Given the description of an element on the screen output the (x, y) to click on. 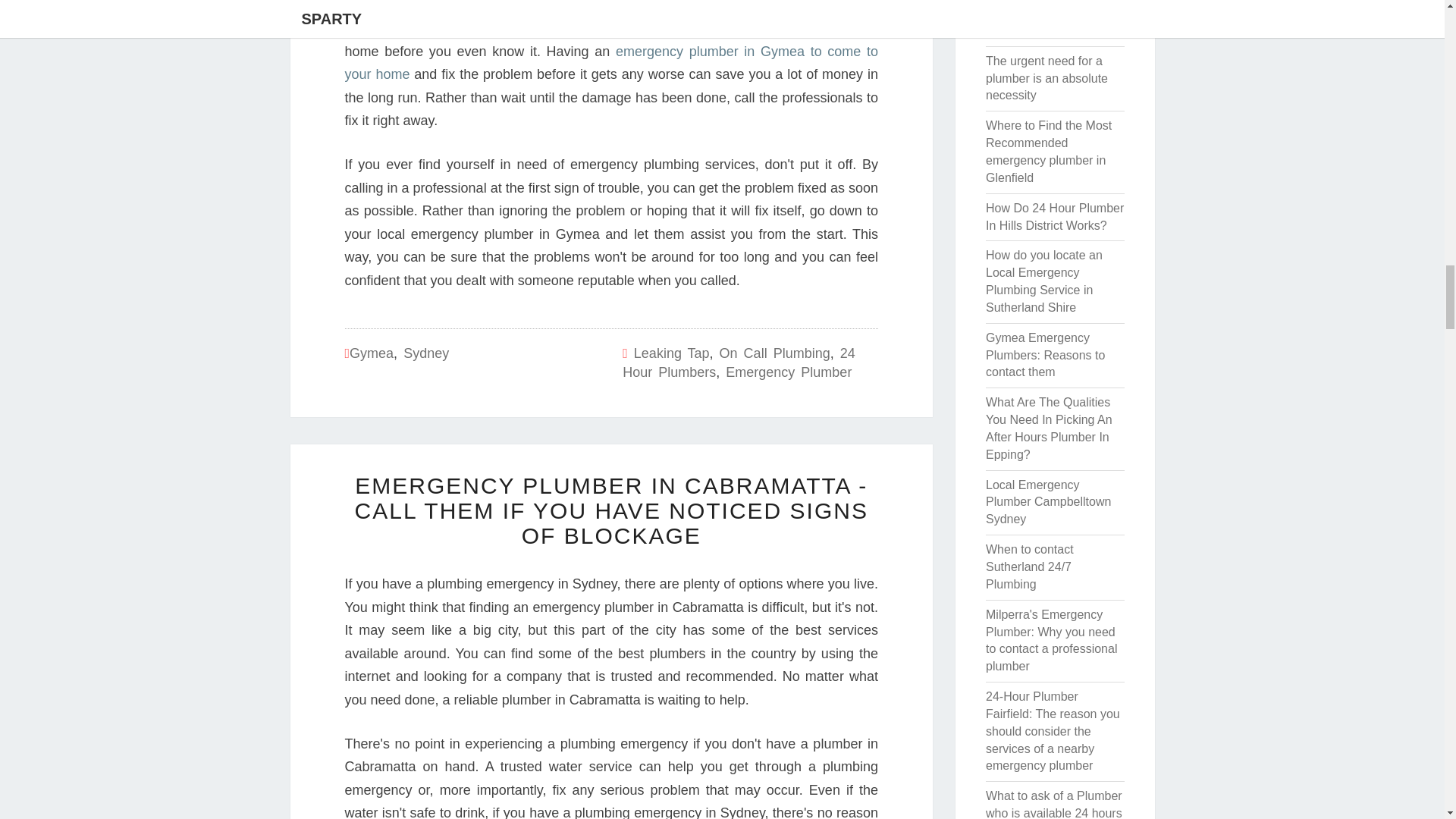
On Call Plumbing (774, 353)
24 Hour Plumbers (738, 362)
emergency plumber in Gymea to come to your home (610, 63)
Leaking Tap (671, 353)
Gymea (371, 353)
Sydney (425, 353)
Emergency Plumber (788, 372)
